Given the description of an element on the screen output the (x, y) to click on. 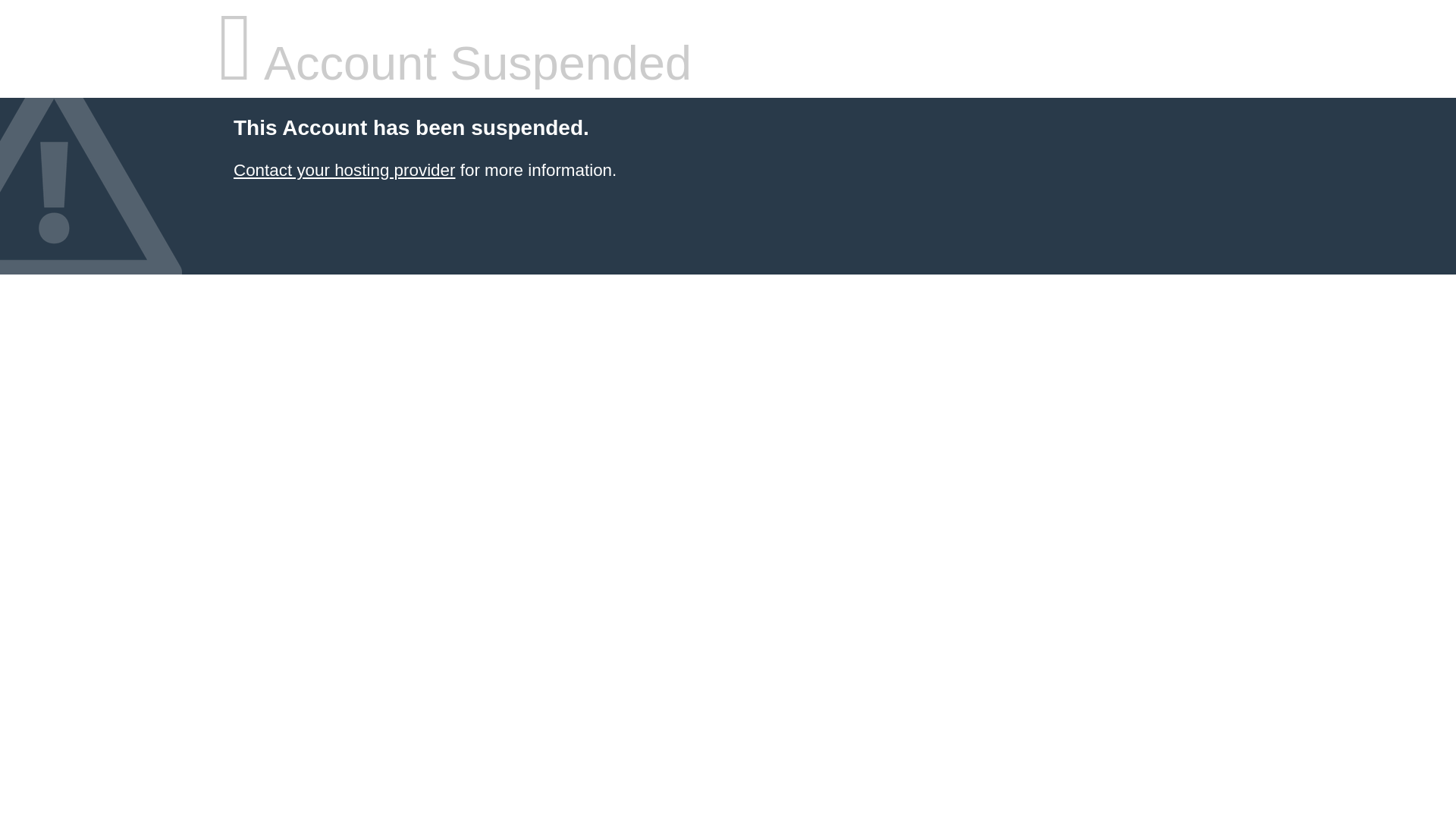
Contact your hosting provider (343, 169)
